Given the description of an element on the screen output the (x, y) to click on. 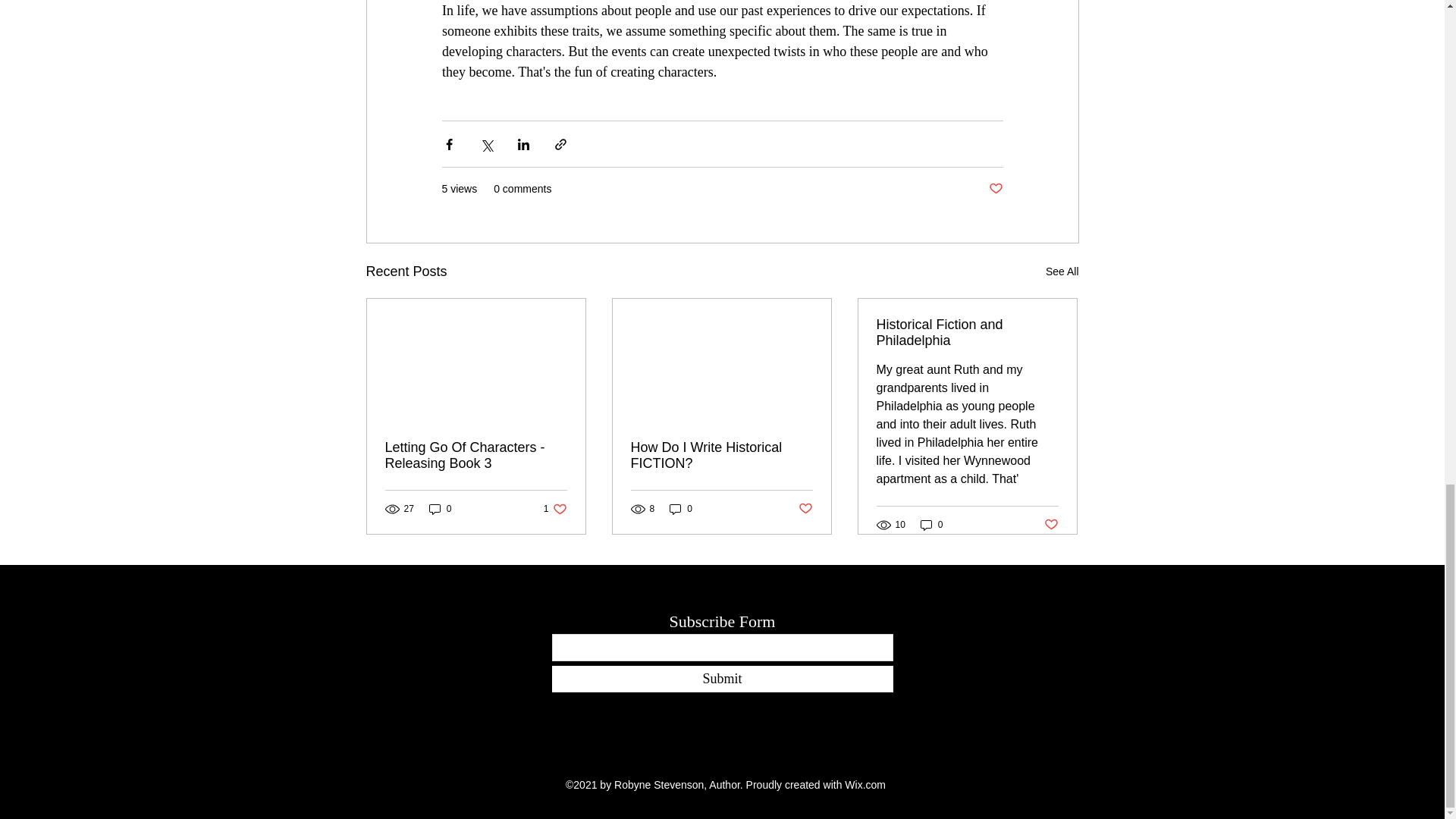
Submit (722, 678)
Historical Fiction and Philadelphia (967, 332)
0 (681, 509)
How Do I Write Historical FICTION? (721, 455)
0 (931, 523)
0 (440, 509)
See All (1061, 271)
Post not marked as liked (555, 509)
Post not marked as liked (804, 508)
Post not marked as liked (995, 188)
Letting Go Of Characters - Releasing Book 3 (1050, 524)
